Given the description of an element on the screen output the (x, y) to click on. 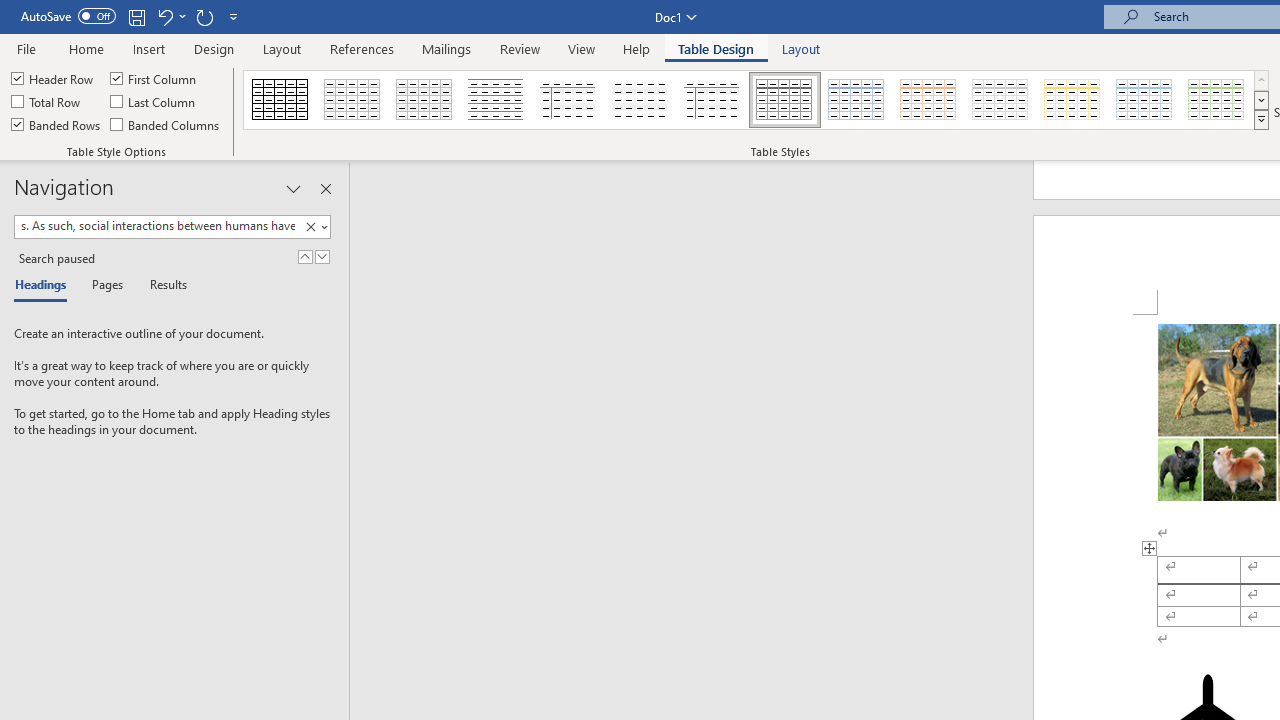
Plain Table 5 (712, 100)
Previous Result (304, 256)
Undo Style (170, 15)
Next Result (322, 256)
Table Grid (280, 100)
Grid Table 1 Light - Accent 3 (1000, 100)
Repeat Style (204, 15)
Header Row (53, 78)
Banded Columns (166, 124)
